Given the description of an element on the screen output the (x, y) to click on. 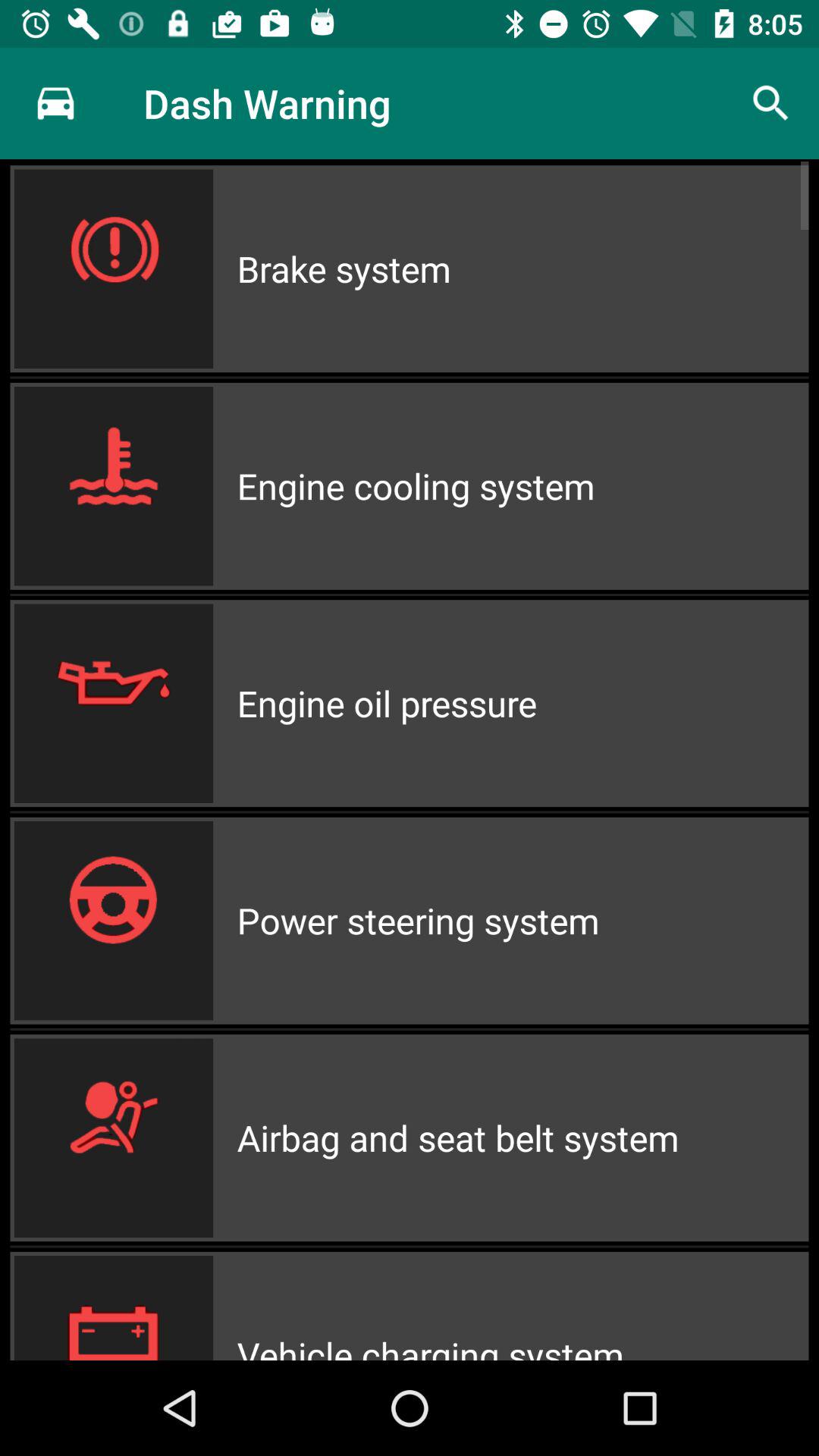
turn off icon above airbag and seat icon (522, 920)
